Given the description of an element on the screen output the (x, y) to click on. 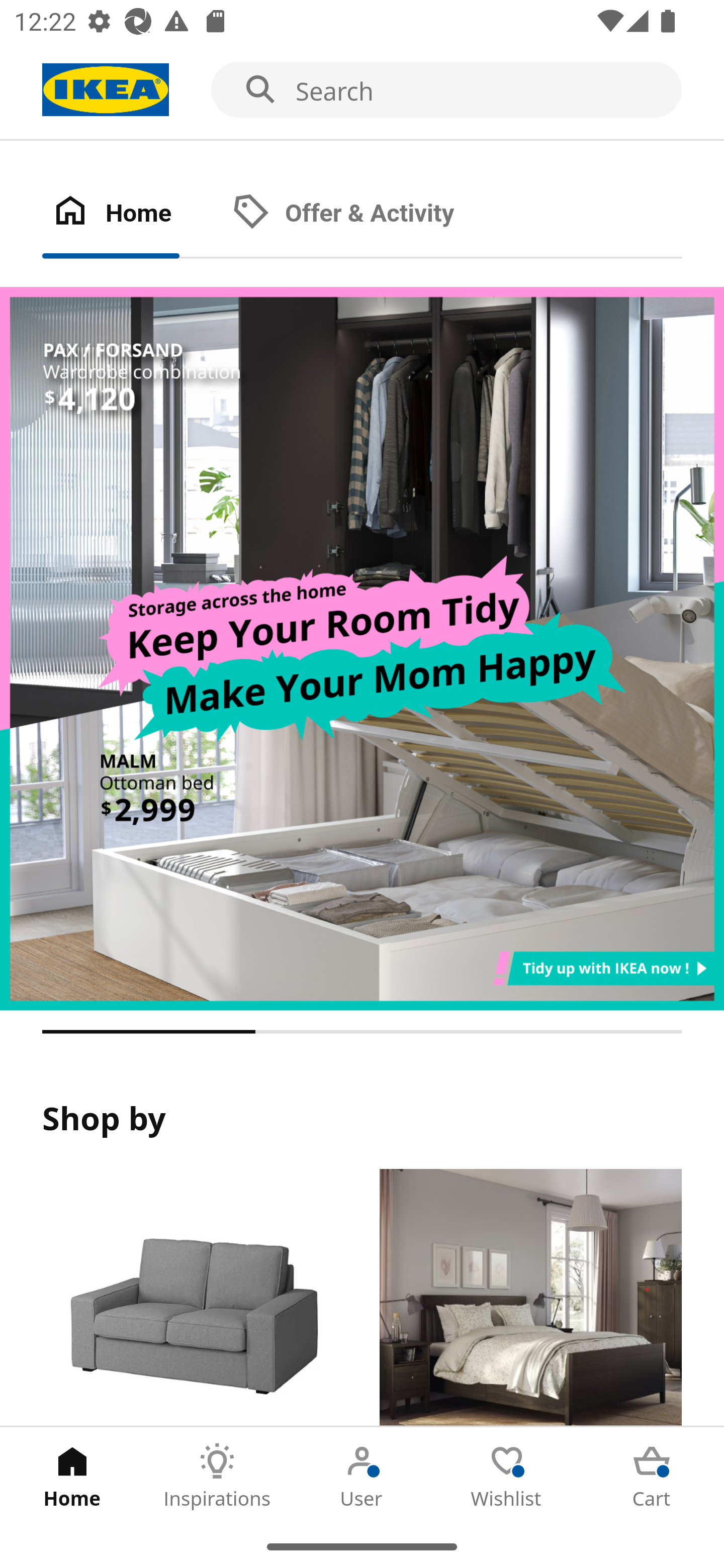
Search (361, 90)
Home
Tab 1 of 2 (131, 213)
Offer & Activity
Tab 2 of 2 (363, 213)
Products (192, 1297)
Rooms (530, 1297)
Home
Tab 1 of 5 (72, 1476)
Inspirations
Tab 2 of 5 (216, 1476)
User
Tab 3 of 5 (361, 1476)
Wishlist
Tab 4 of 5 (506, 1476)
Cart
Tab 5 of 5 (651, 1476)
